Given the description of an element on the screen output the (x, y) to click on. 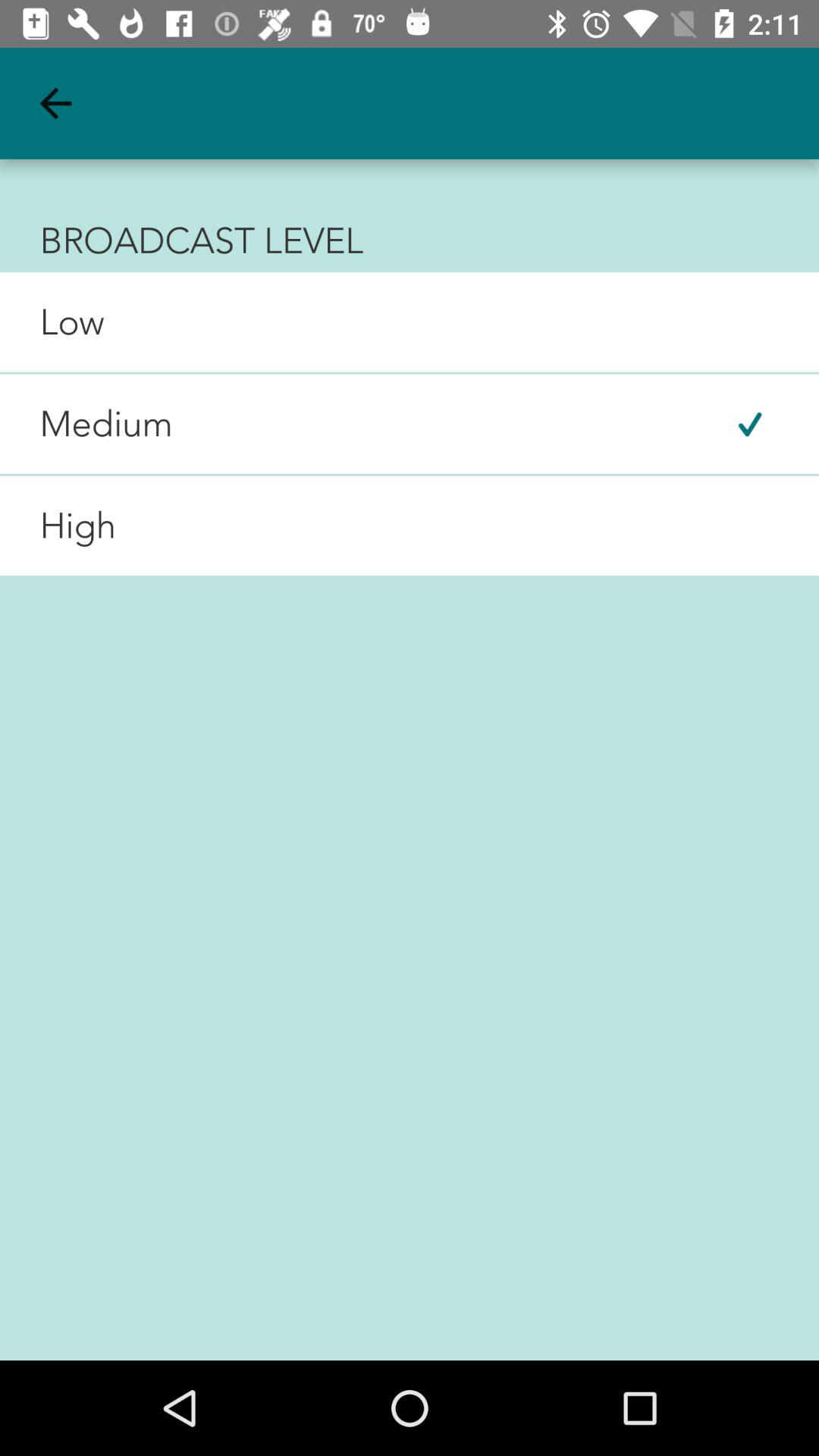
tap the item above medium (52, 321)
